Given the description of an element on the screen output the (x, y) to click on. 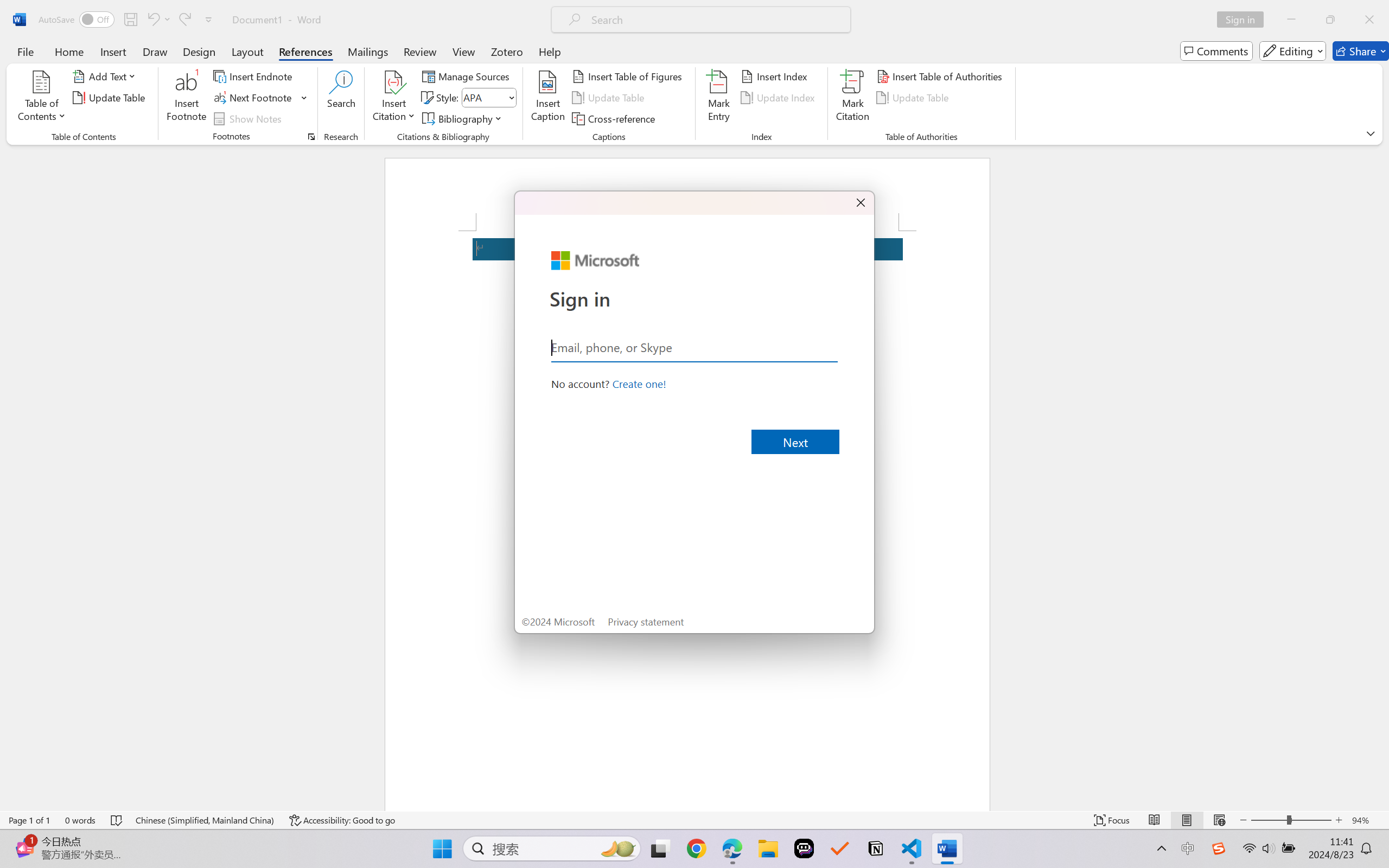
Update Index (778, 97)
Insert Index... (775, 75)
Redo Apply Quick Style (184, 19)
Mark Citation... (852, 97)
